Given the description of an element on the screen output the (x, y) to click on. 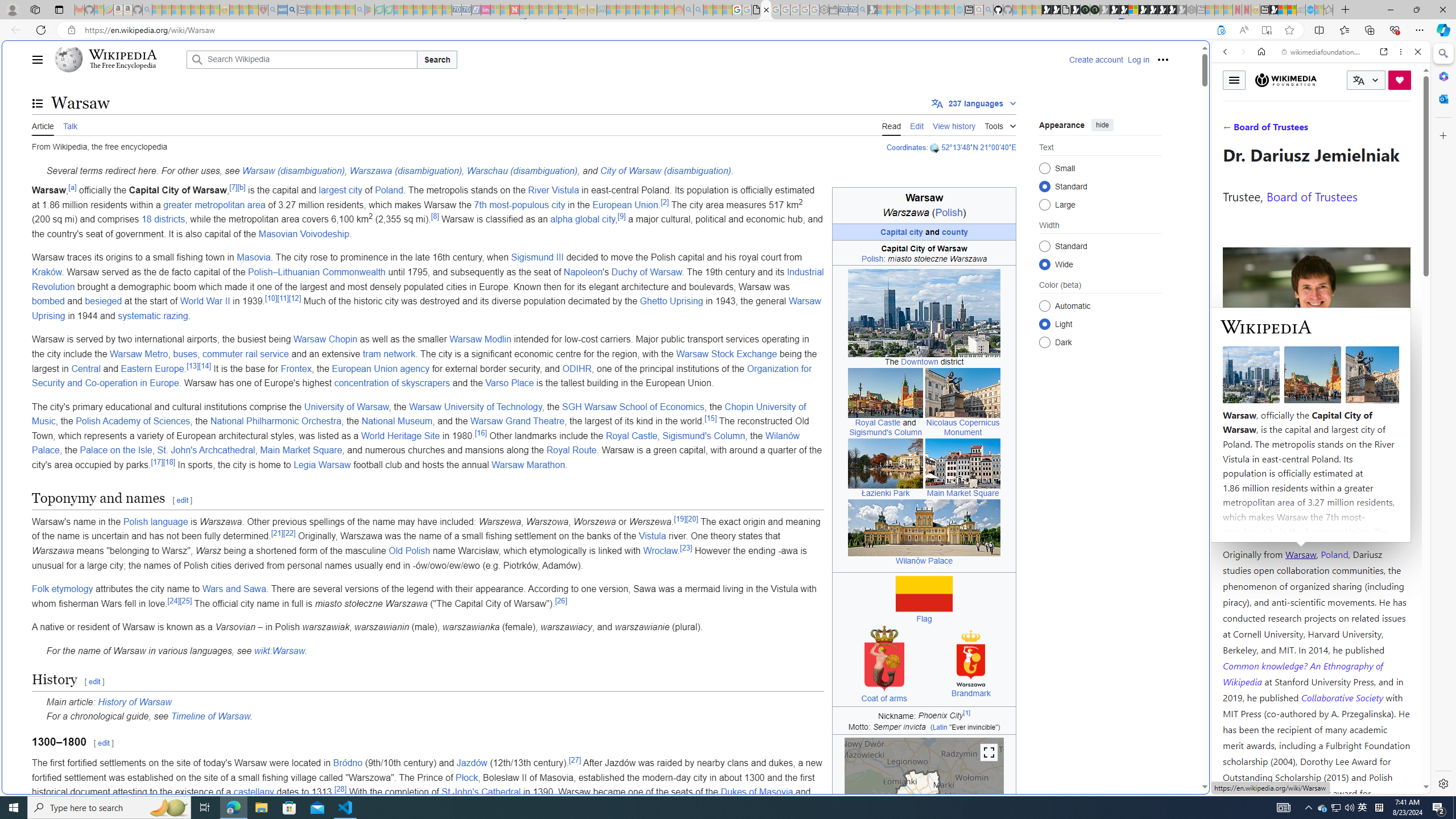
Main Market Square (301, 450)
[8] (434, 215)
Profile on Meta-Wiki (1273, 405)
Show location on an interactive map (936, 147)
Toggle menu (1233, 80)
